Given the description of an element on the screen output the (x, y) to click on. 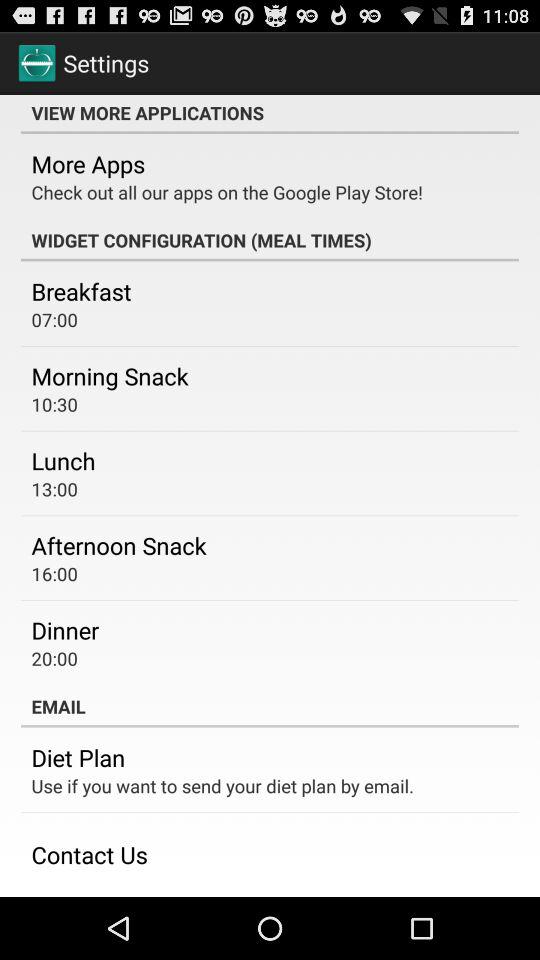
turn off dinner icon (65, 630)
